Given the description of an element on the screen output the (x, y) to click on. 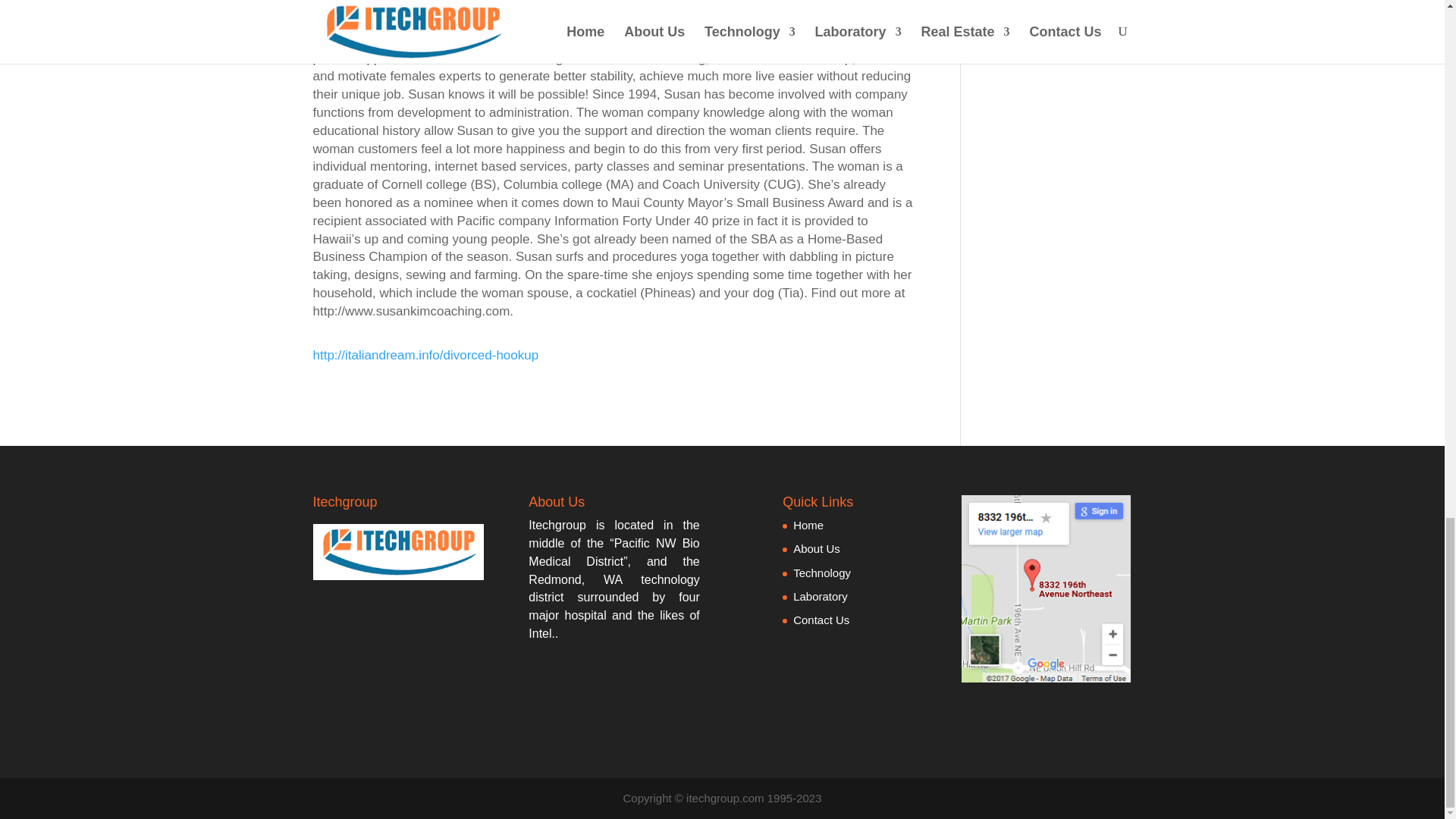
Home (808, 524)
About Us (816, 548)
Laboratory (820, 595)
Technology (821, 572)
Contact Us (820, 619)
